Given the description of an element on the screen output the (x, y) to click on. 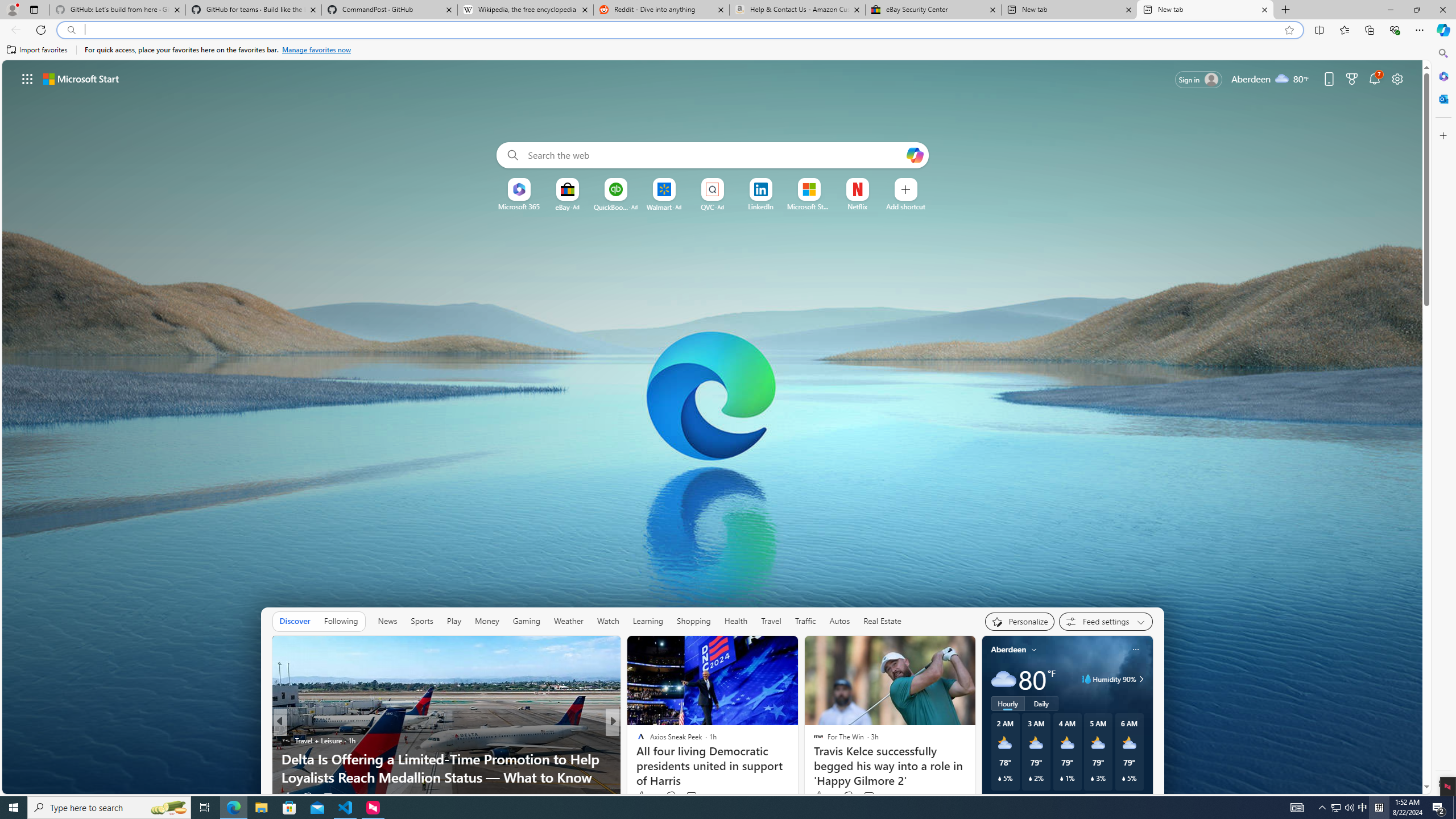
Help & Contact Us - Amazon Customer Service - Sleeping (797, 9)
Page settings (1397, 78)
Play (453, 621)
Fadeaway World (635, 740)
View comments 2 Comment (869, 795)
Class: weather-current-precipitation-glyph (1123, 778)
AutomationID: backgroundImagePicture (712, 426)
